Given the description of an element on the screen output the (x, y) to click on. 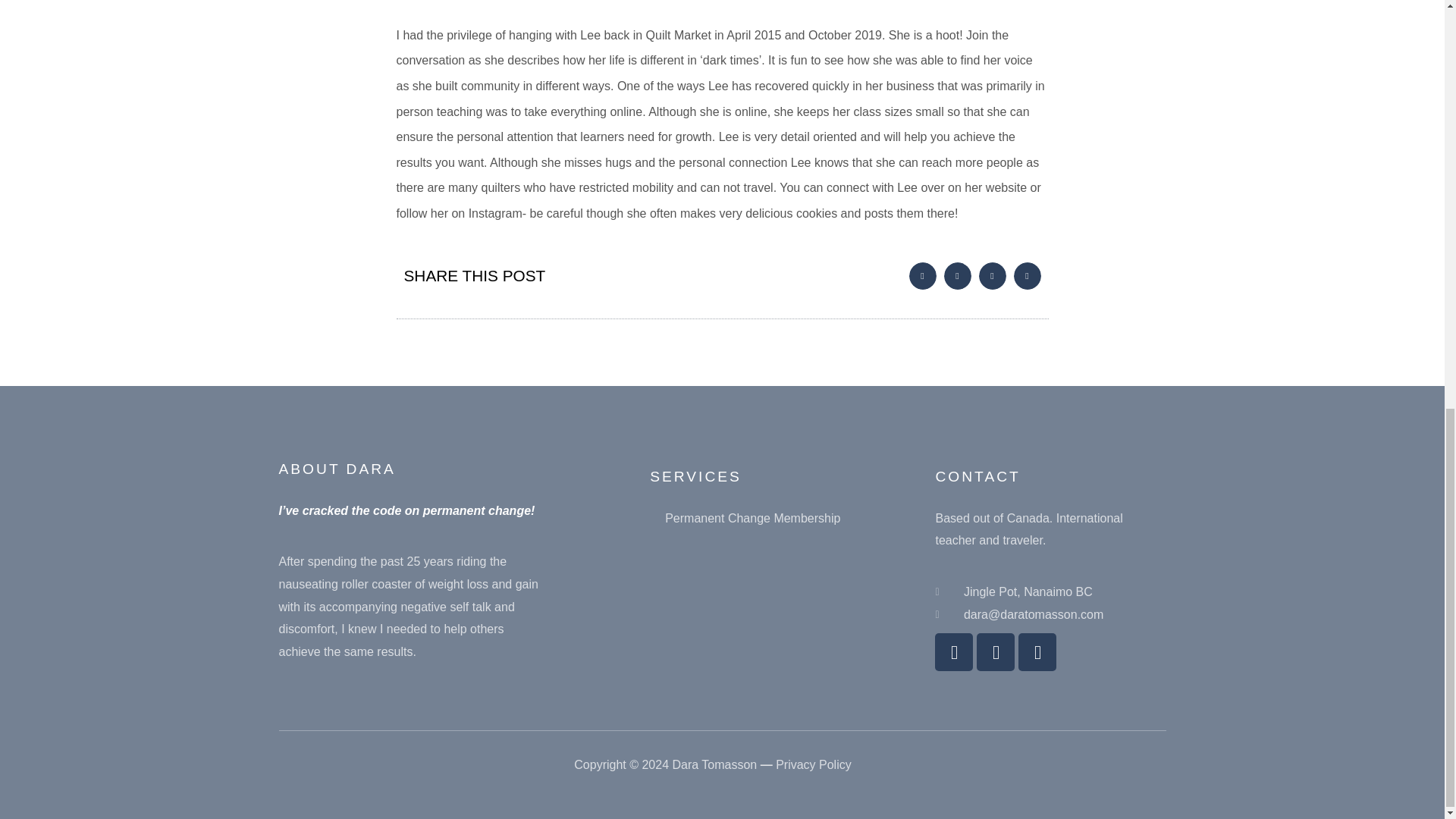
Permanent Change Membership (744, 517)
Privacy Policy (813, 764)
Youtube (995, 651)
Facebook (953, 651)
Instagram (1037, 651)
